Given the description of an element on the screen output the (x, y) to click on. 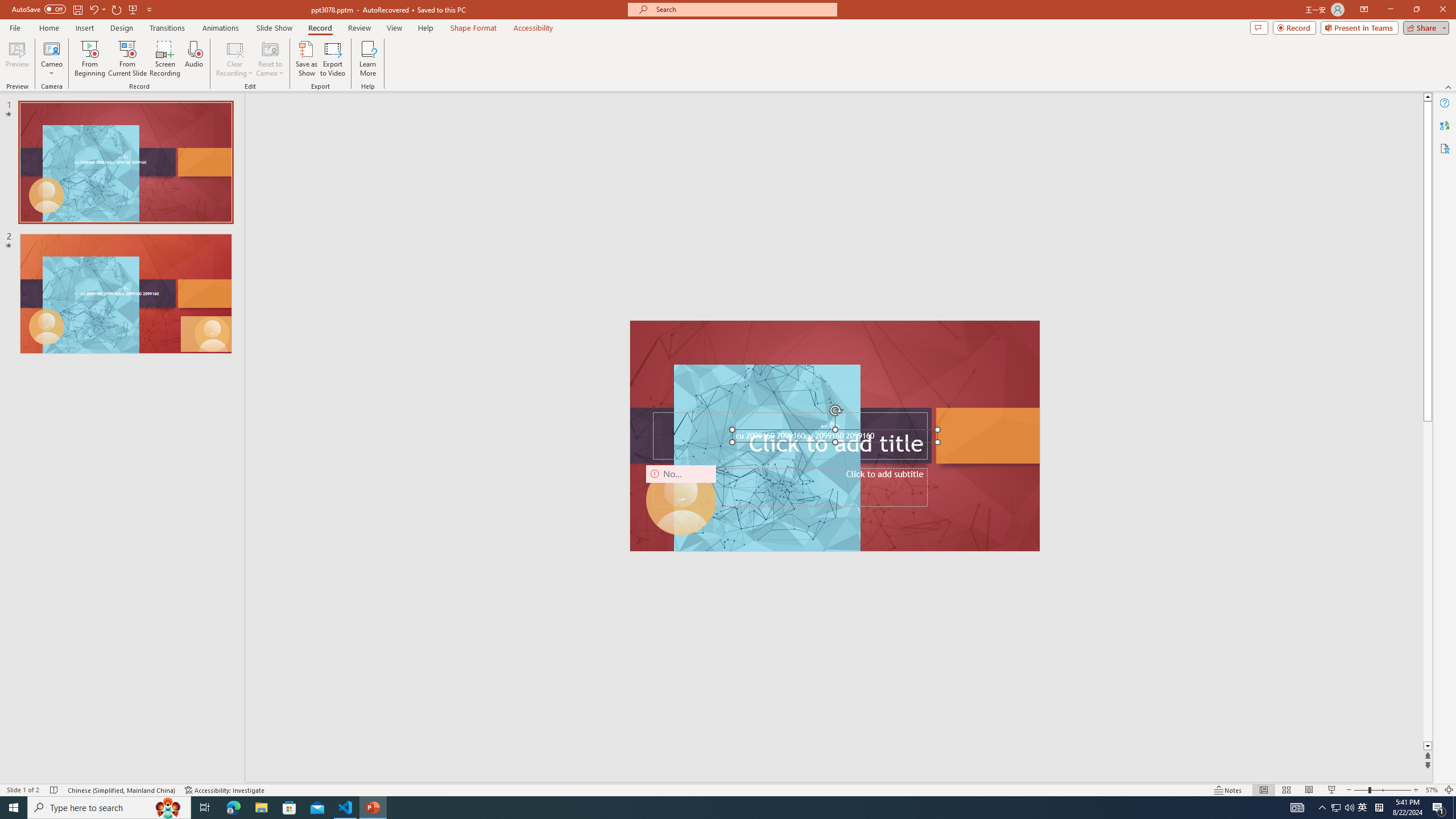
TextBox 61 (833, 437)
